Given the description of an element on the screen output the (x, y) to click on. 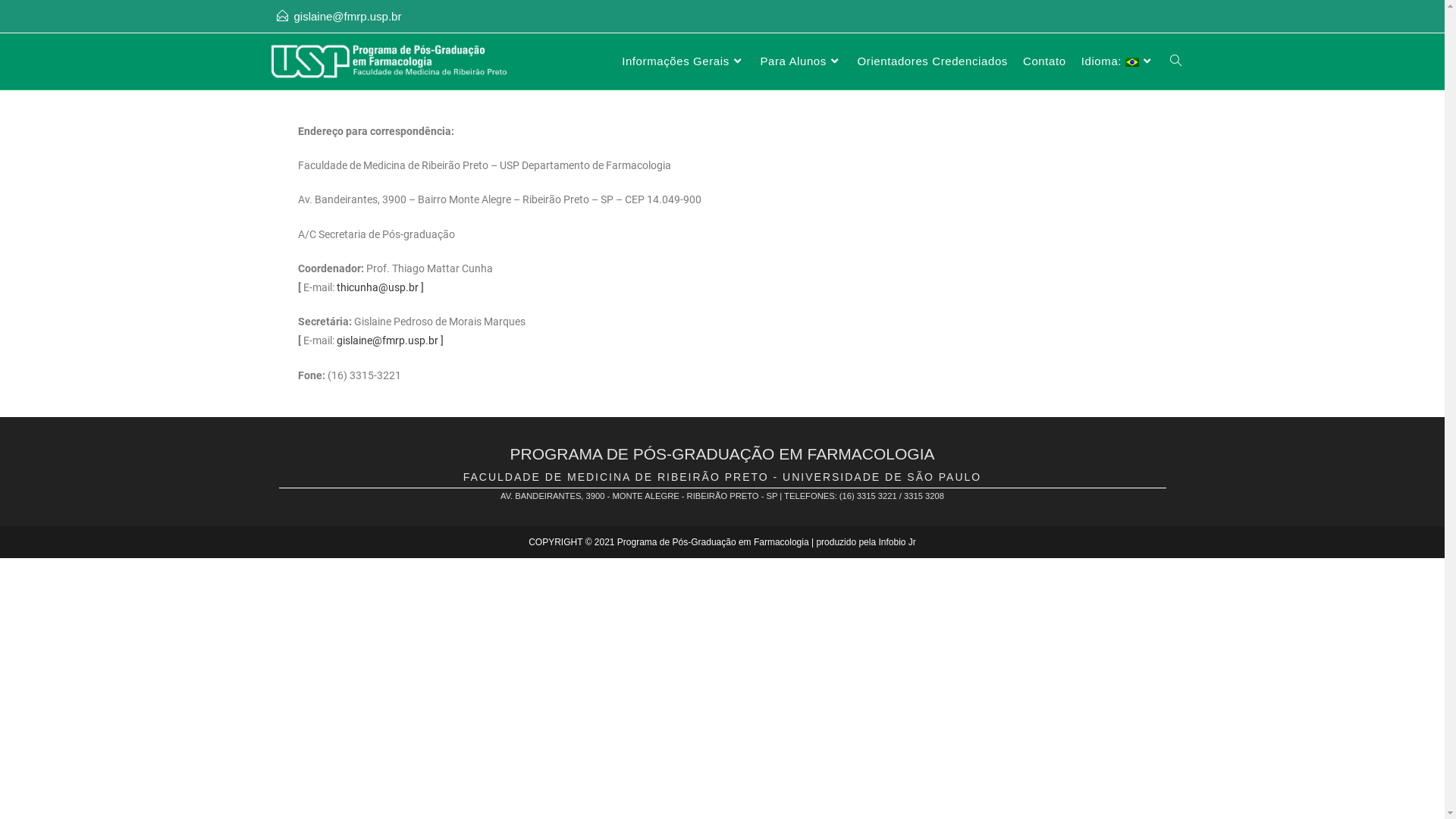
gislaine@fmrp.usp.br Element type: text (387, 340)
Idioma:  Element type: text (1117, 61)
Para Alunos Element type: text (800, 61)
Infobio Jr Element type: text (896, 541)
Orientadores Credenciados Element type: text (932, 61)
thicunha@usp.br Element type: text (377, 287)
gislaine@fmrp.usp.br Element type: text (347, 15)
Contato Element type: text (1044, 61)
